Given the description of an element on the screen output the (x, y) to click on. 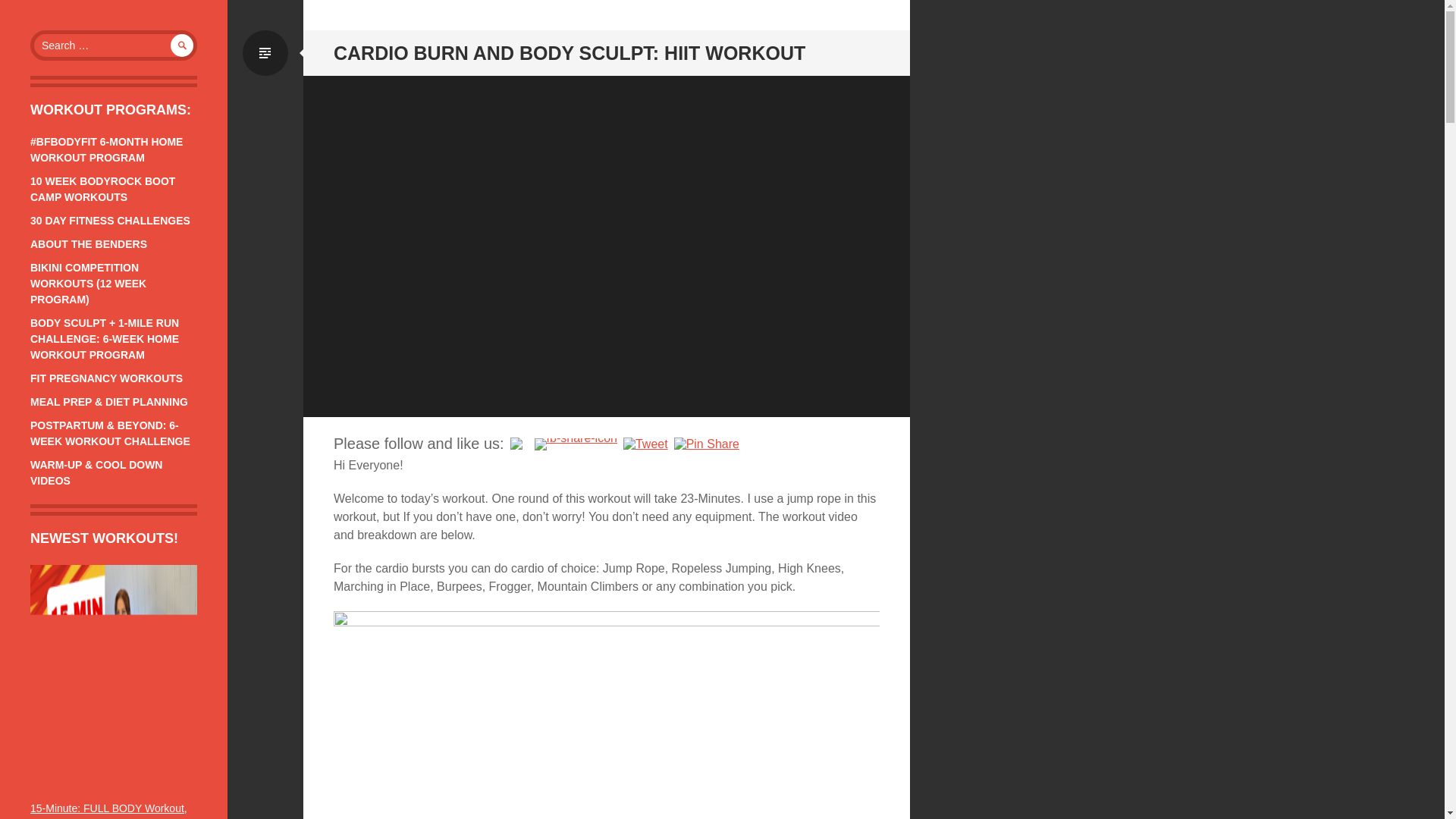
Pin Share (706, 444)
30 DAY FITNESS CHALLENGES (110, 220)
ABOUT THE BENDERS (88, 244)
FIT PREGNANCY WORKOUTS (106, 378)
Search for: (113, 45)
Tweet (645, 444)
Facebook Share (575, 444)
15-Minute: FULL BODY Workout, Home Exercise Routine (108, 810)
10 WEEK BODYROCK BOOT CAMP WORKOUTS (102, 189)
